Given the description of an element on the screen output the (x, y) to click on. 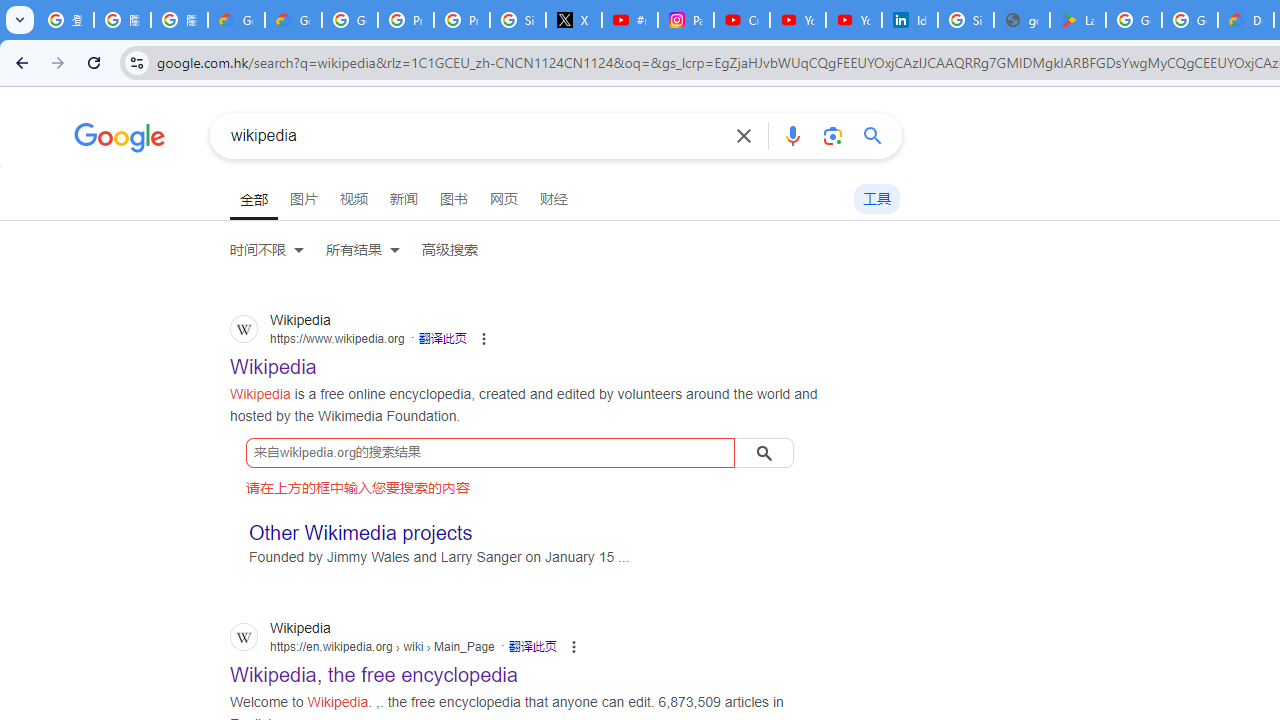
Sign in - Google Accounts (966, 20)
YouTube Culture & Trends - YouTube Top 10, 2021 (853, 20)
